Given the description of an element on the screen output the (x, y) to click on. 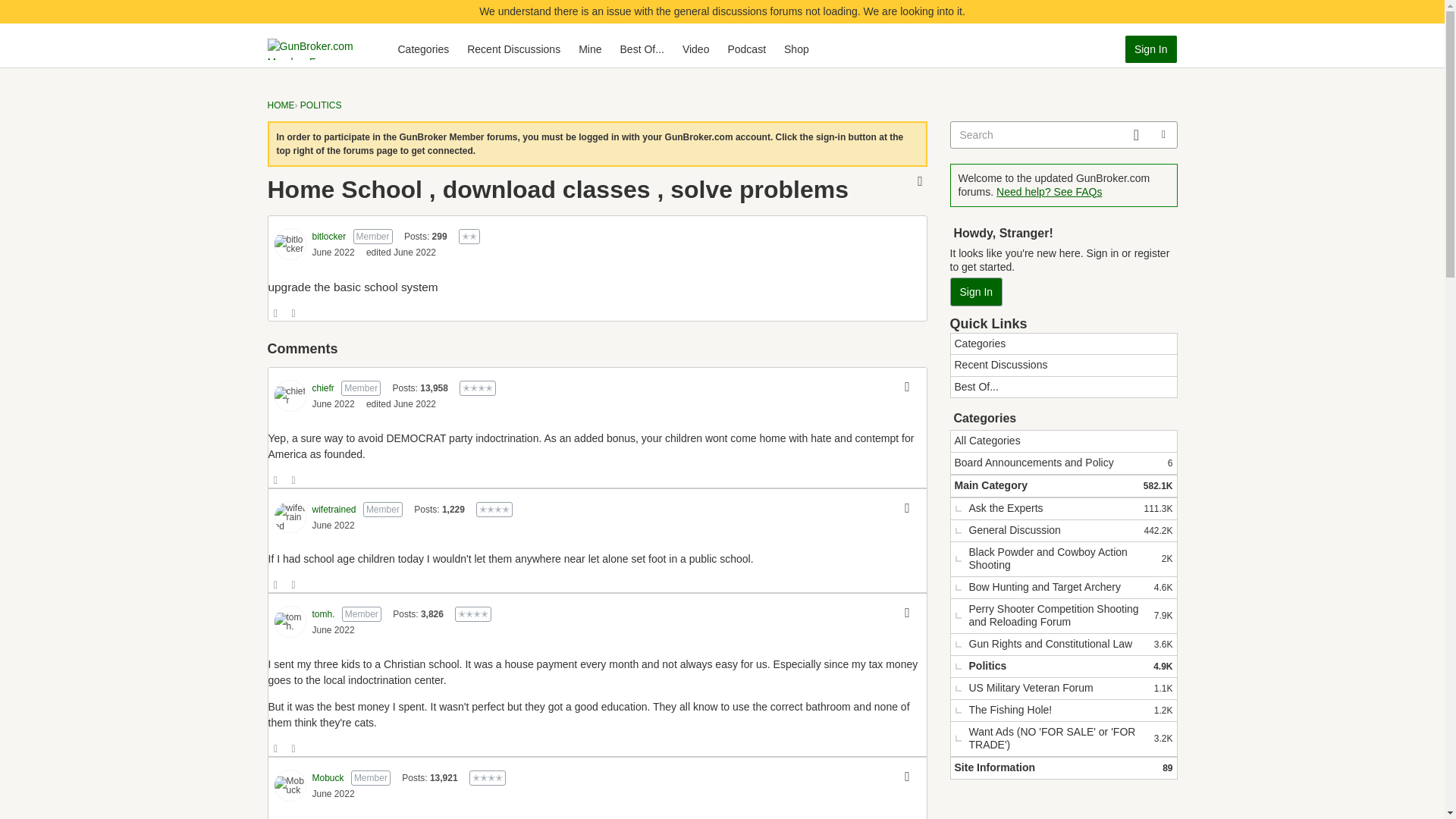
June 14, 2022 10:36PM (334, 525)
Share on Facebook (276, 480)
Categories (423, 49)
POLITICS (320, 104)
Edited June 14, 2022 6:43PM by mark christian. (400, 252)
Share on Twitter (513, 49)
Edited June 14, 2022 10:28PM by chiefr. (294, 314)
wifetrained (400, 403)
chiefr (290, 517)
June 14, 2022 6:20PM (323, 387)
Level 4 (334, 403)
Share on Facebook (473, 613)
tomh. (276, 314)
Sign In (290, 622)
